Given the description of an element on the screen output the (x, y) to click on. 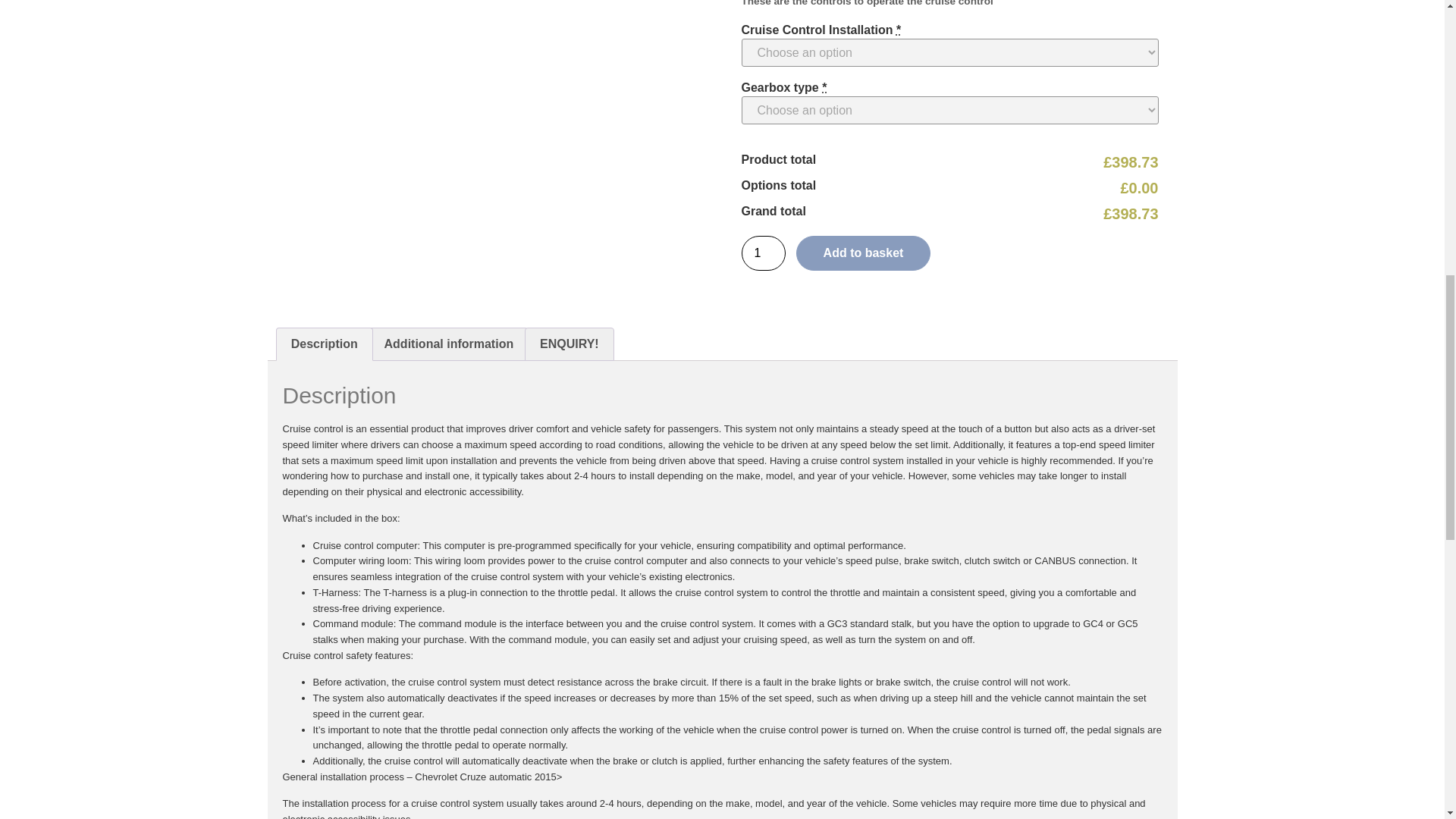
1 (763, 253)
